Given the description of an element on the screen output the (x, y) to click on. 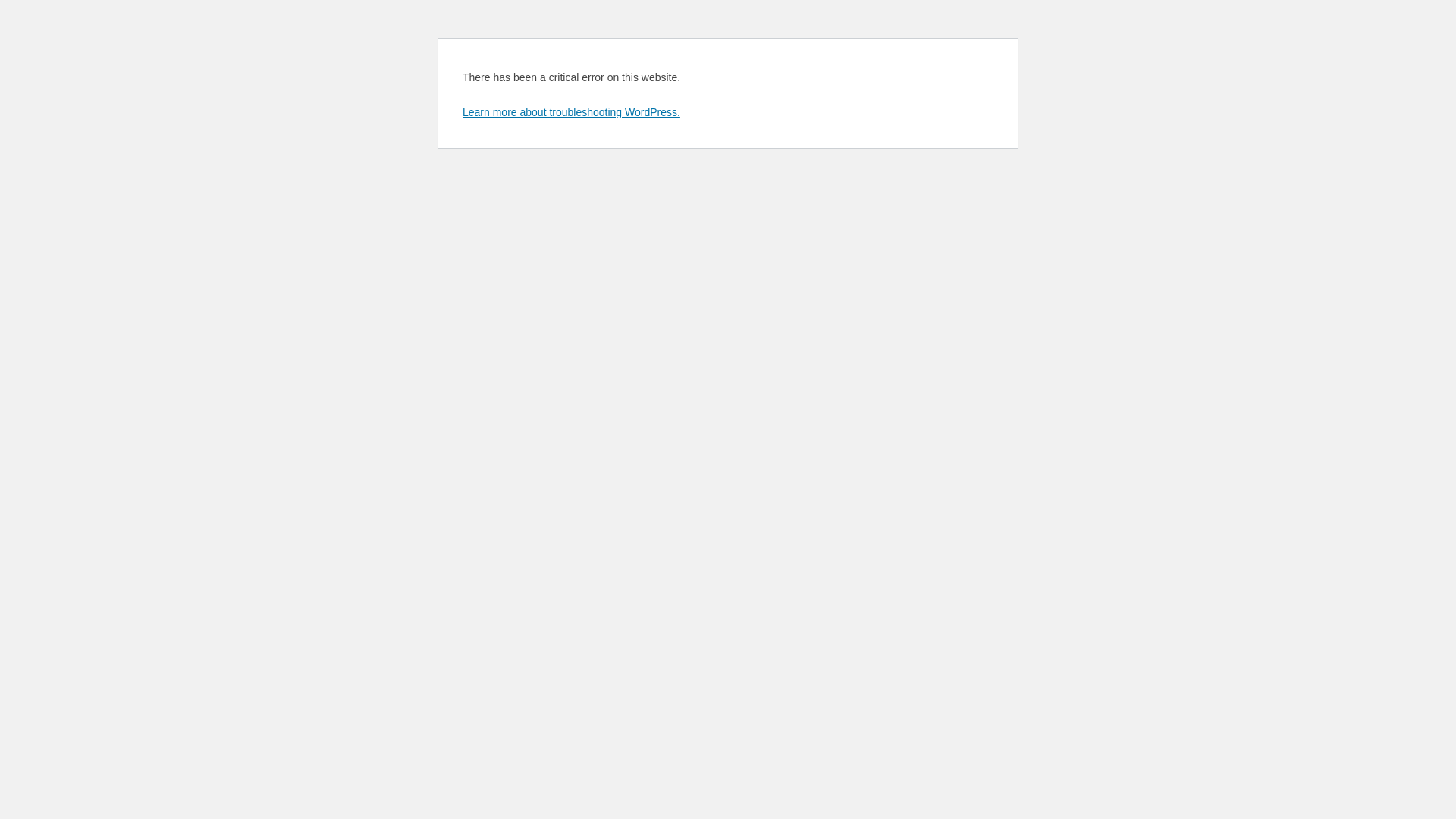
Learn more about troubleshooting WordPress. Element type: text (571, 112)
